Given the description of an element on the screen output the (x, y) to click on. 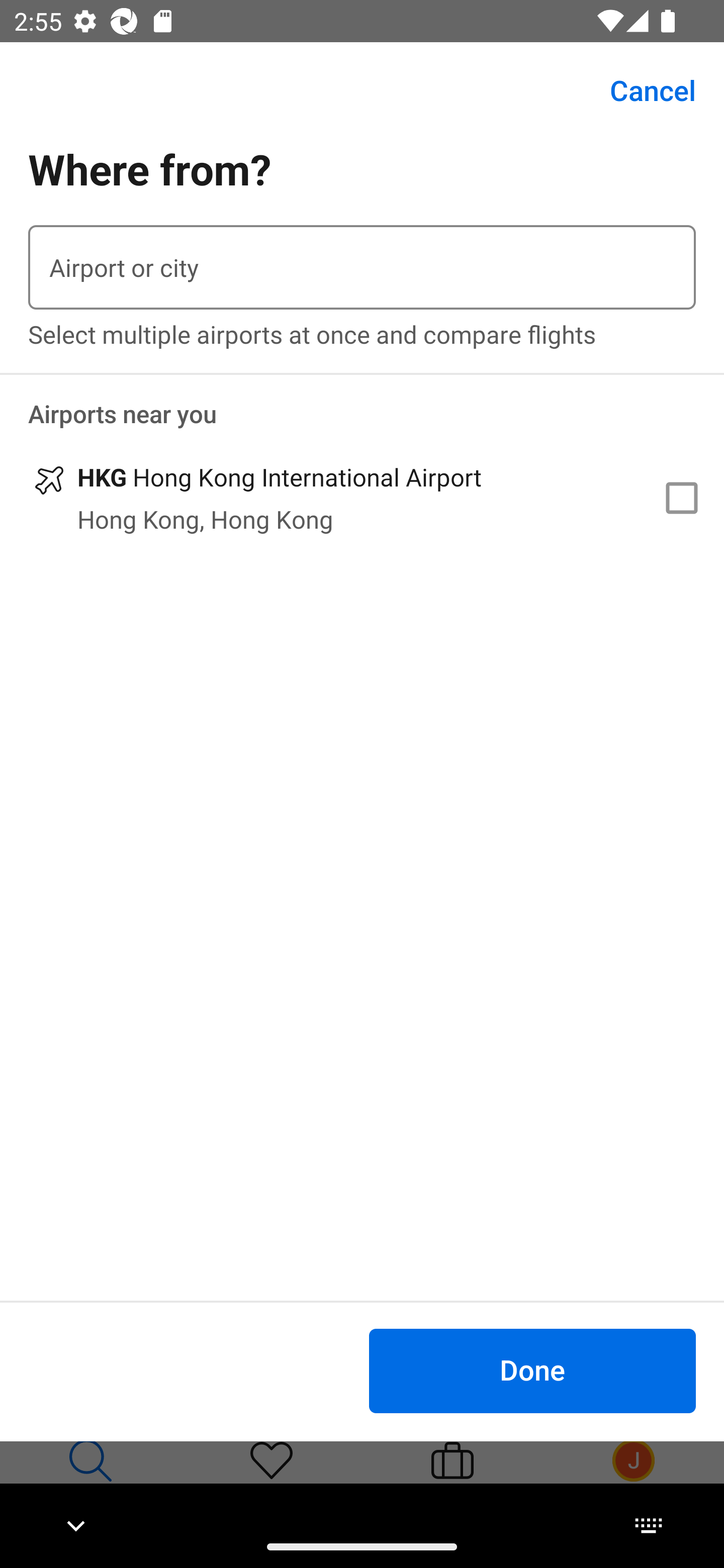
Cancel (641, 90)
Airport or city (361, 266)
Done (532, 1370)
